Given the description of an element on the screen output the (x, y) to click on. 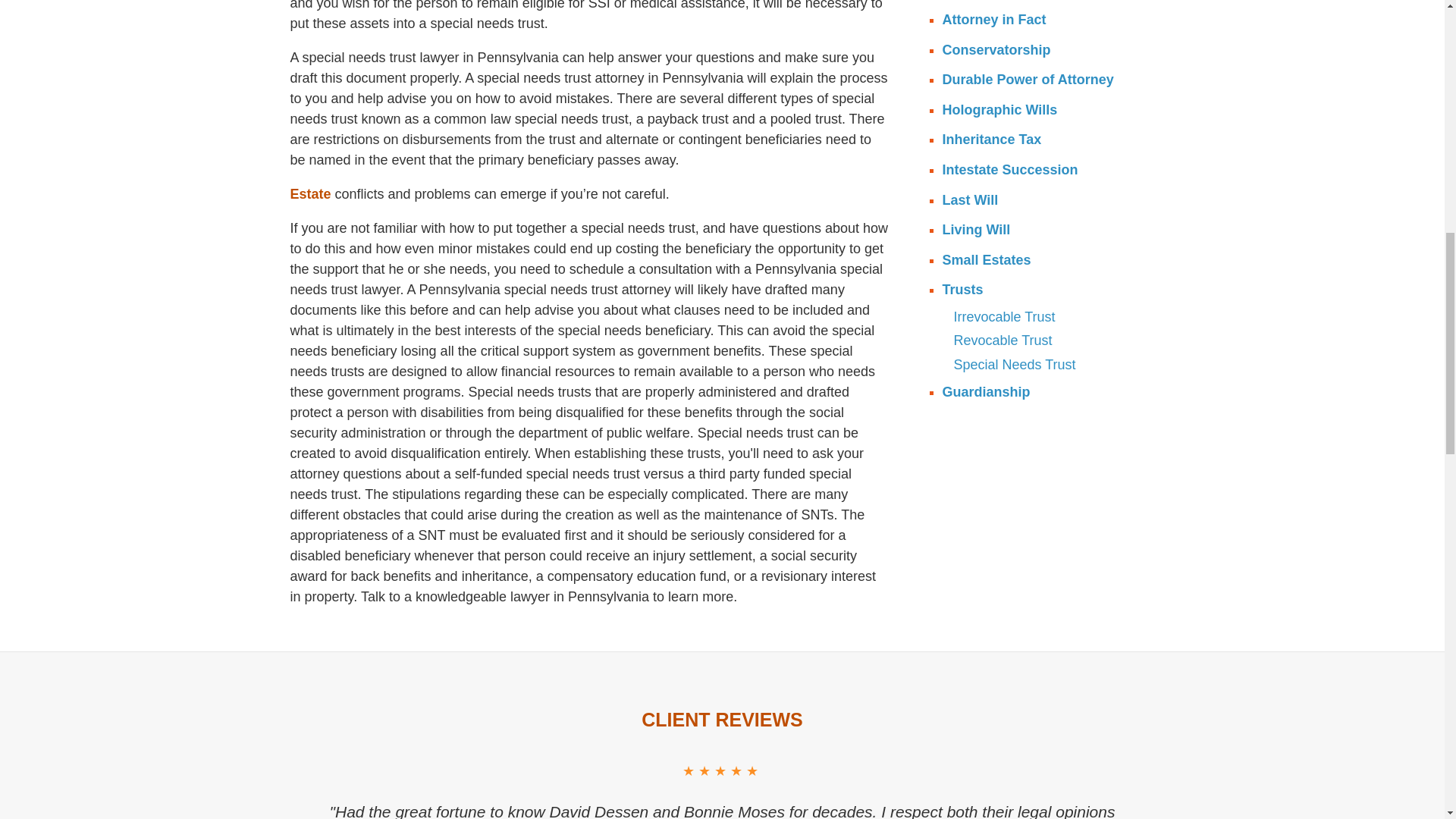
Attorney in Fact (1043, 20)
Intestate Succession (1043, 170)
Advanced Healthcare Directive (1043, 2)
Last Will (1043, 200)
Irrevocable Trust (1050, 317)
Living Will (1043, 230)
Conservatorship (1043, 51)
Durable Power of Attorney (1043, 80)
Small Estates (1043, 260)
Holographic Wills (1043, 110)
Trusts (1043, 290)
Inheritance Tax (1043, 140)
Estate (309, 193)
Revocable Trust (1050, 340)
Special Needs Trust (1050, 364)
